Given the description of an element on the screen output the (x, y) to click on. 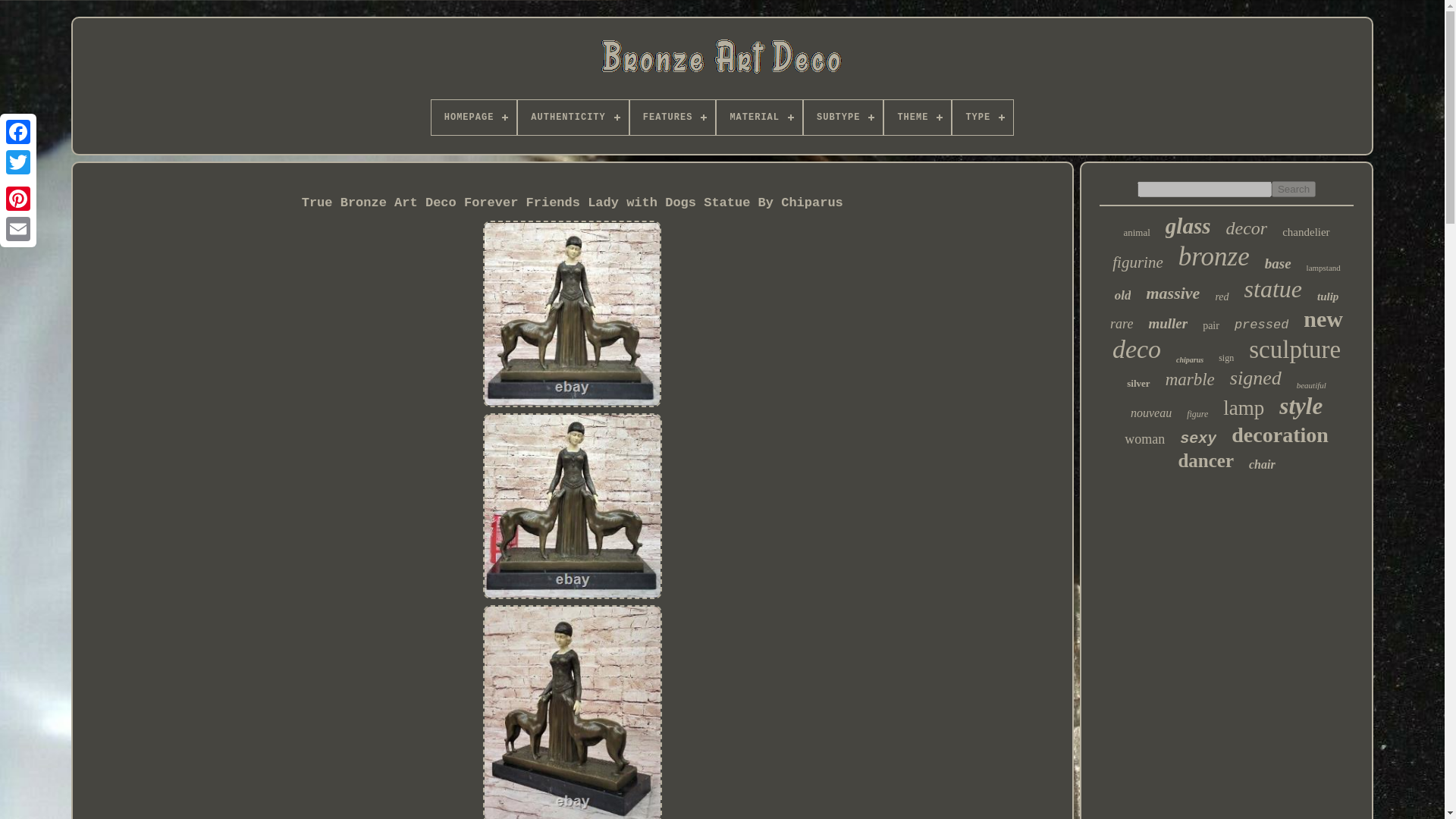
SUBTYPE (842, 117)
Search (1293, 188)
AUTHENTICITY (572, 117)
MATERIAL (759, 117)
HOMEPAGE (473, 117)
FEATURES (673, 117)
